Given the description of an element on the screen output the (x, y) to click on. 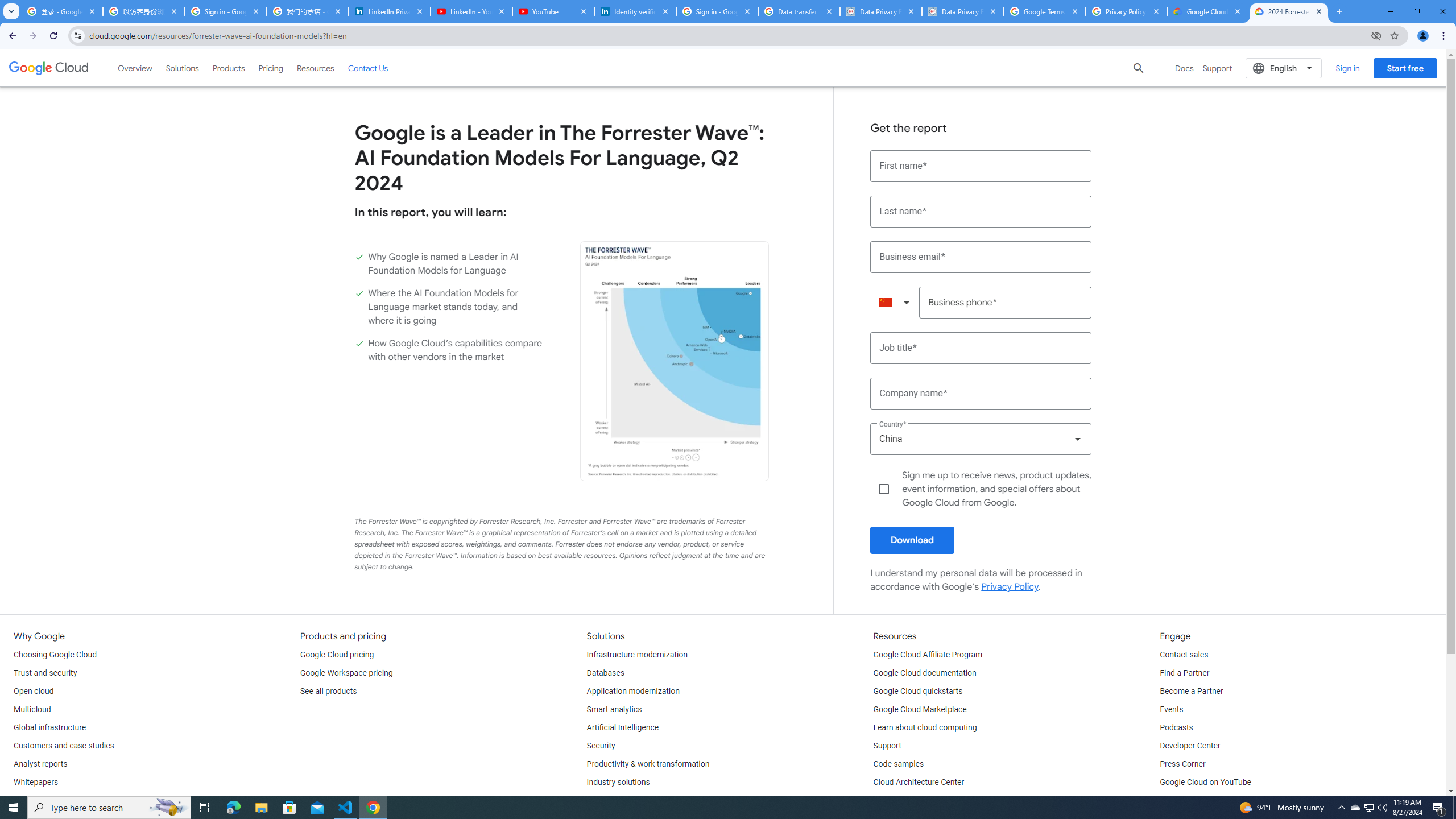
Artificial Intelligence (622, 728)
Google Cloud Tech on YouTube (1214, 800)
Events (1170, 710)
Open cloud (33, 691)
Podcasts (1175, 728)
